Given the description of an element on the screen output the (x, y) to click on. 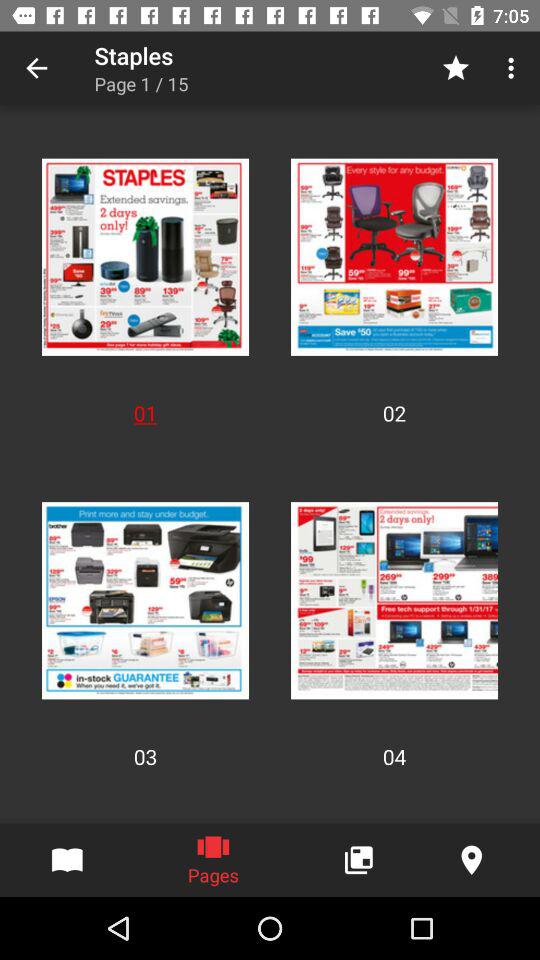
go to second option in first row (394, 256)
select the image which is above 04 on page (394, 600)
